Given the description of an element on the screen output the (x, y) to click on. 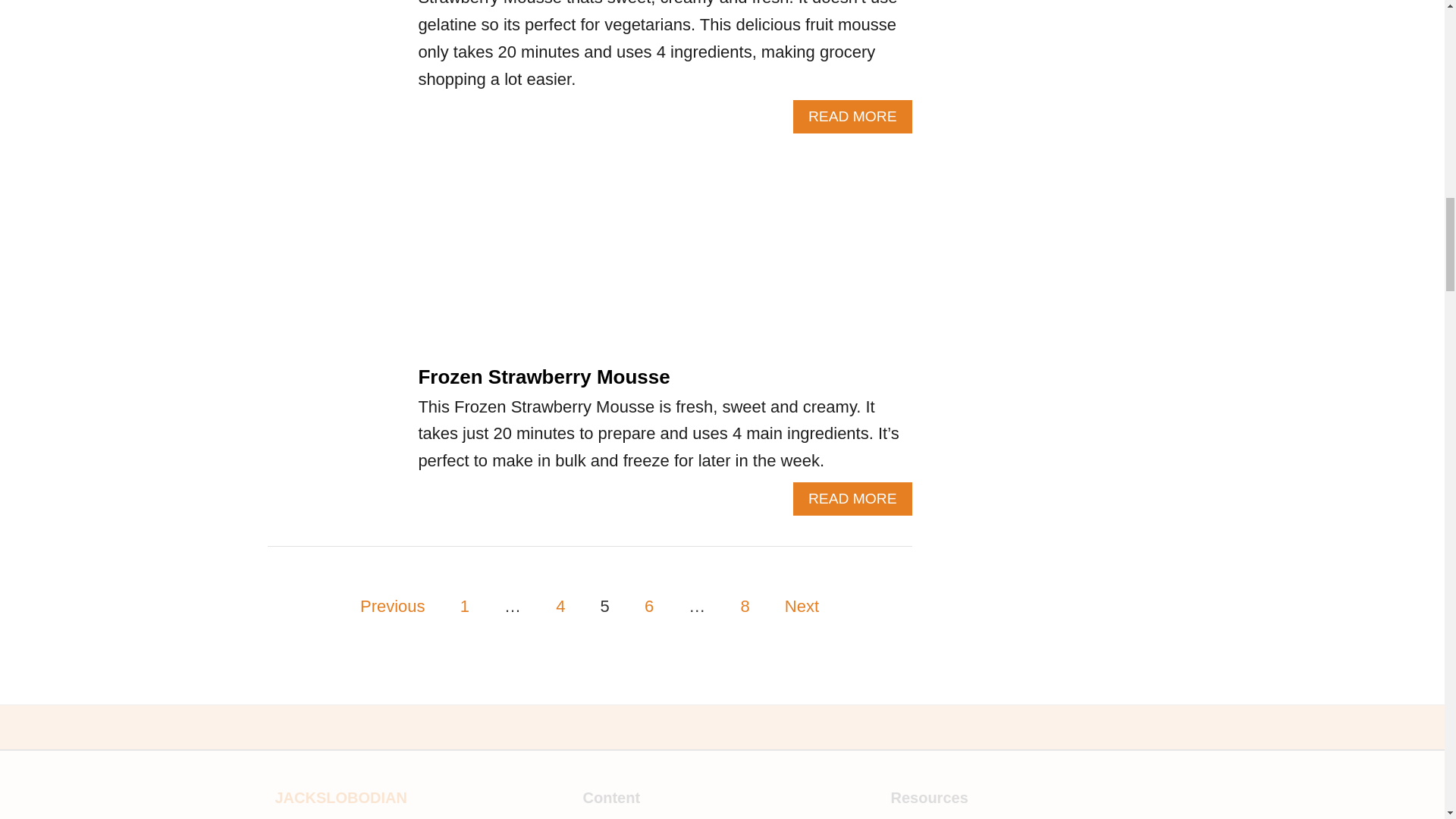
Strawberry Mousse (334, 59)
4 (852, 498)
6 (852, 116)
Previous (559, 606)
Next (648, 606)
1 (393, 606)
8 (802, 606)
Frozen Strawberry Mousse (464, 606)
Frozen Strawberry Mousse (744, 606)
